Given the description of an element on the screen output the (x, y) to click on. 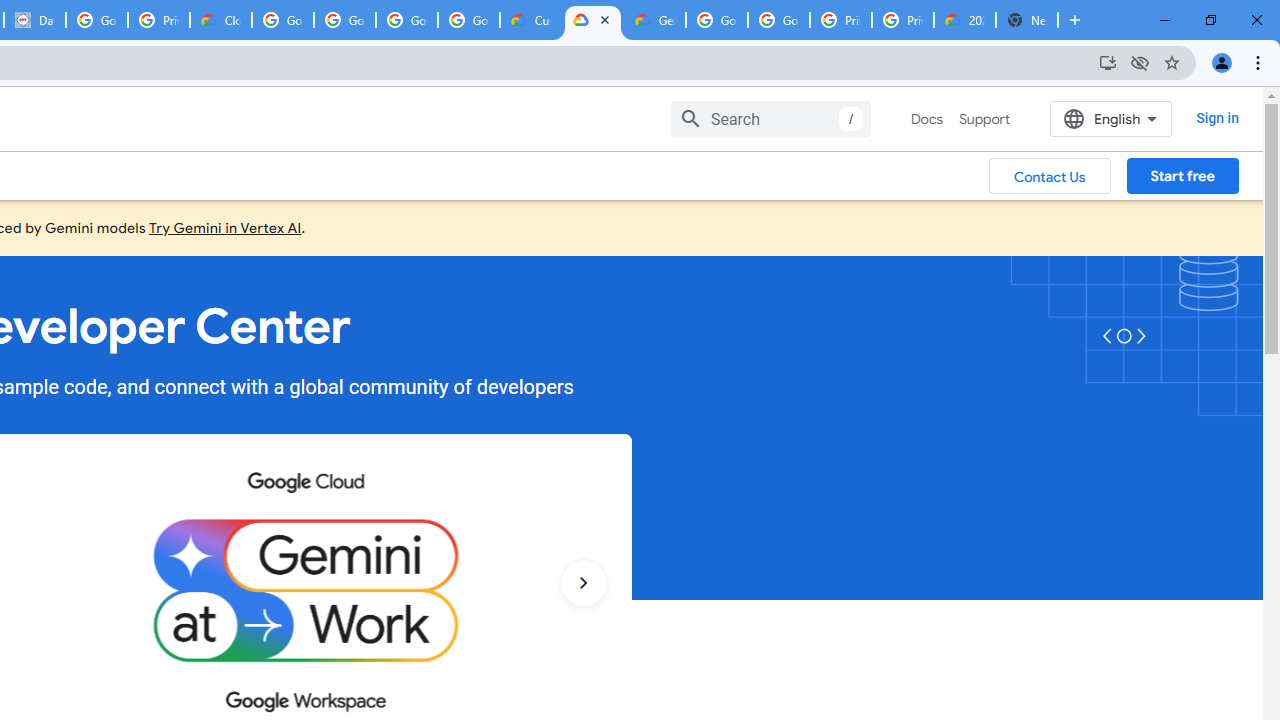
Install Google Cloud (1107, 62)
Search (769, 118)
Docs (927, 119)
Contact Us (1050, 175)
Try Gemini in Vertex AI (225, 227)
Sign in (1216, 118)
Start free (1182, 175)
Google Workspace - Specific Terms (406, 20)
